Given the description of an element on the screen output the (x, y) to click on. 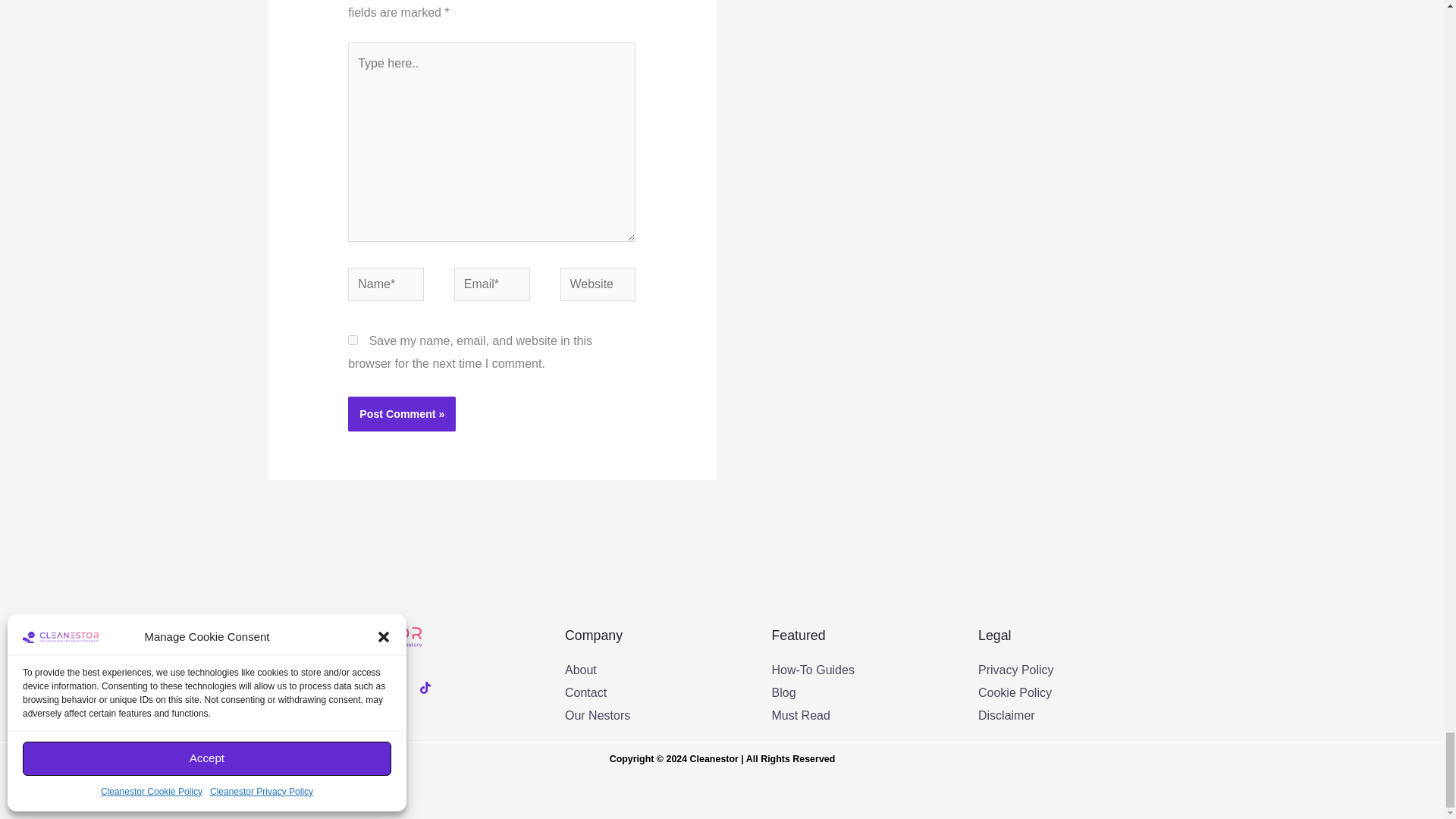
yes (352, 339)
